Given the description of an element on the screen output the (x, y) to click on. 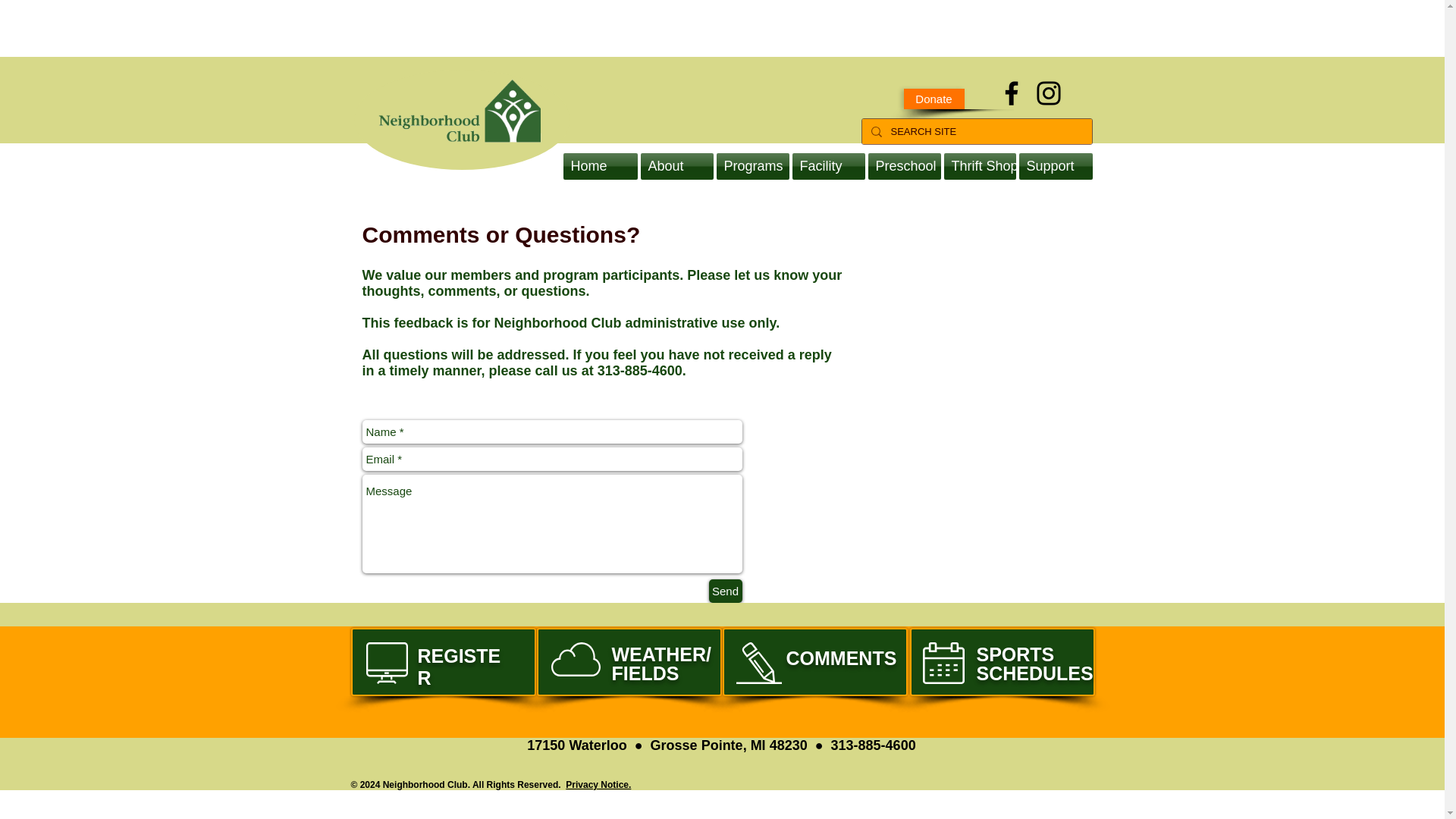
Home (600, 166)
Comments (814, 662)
Donate (442, 662)
Sports Schedule (1002, 662)
